Given the description of an element on the screen output the (x, y) to click on. 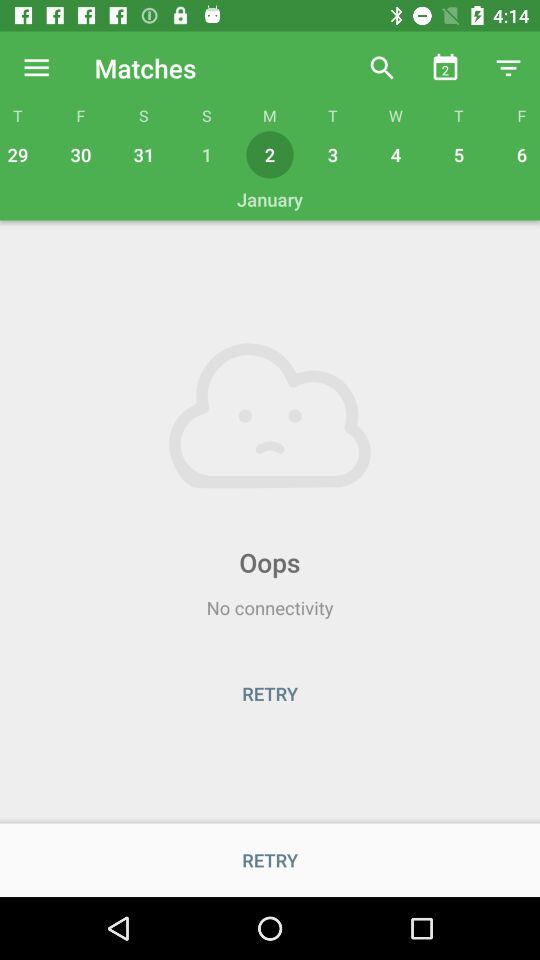
choose the item next to the 6 (458, 154)
